Given the description of an element on the screen output the (x, y) to click on. 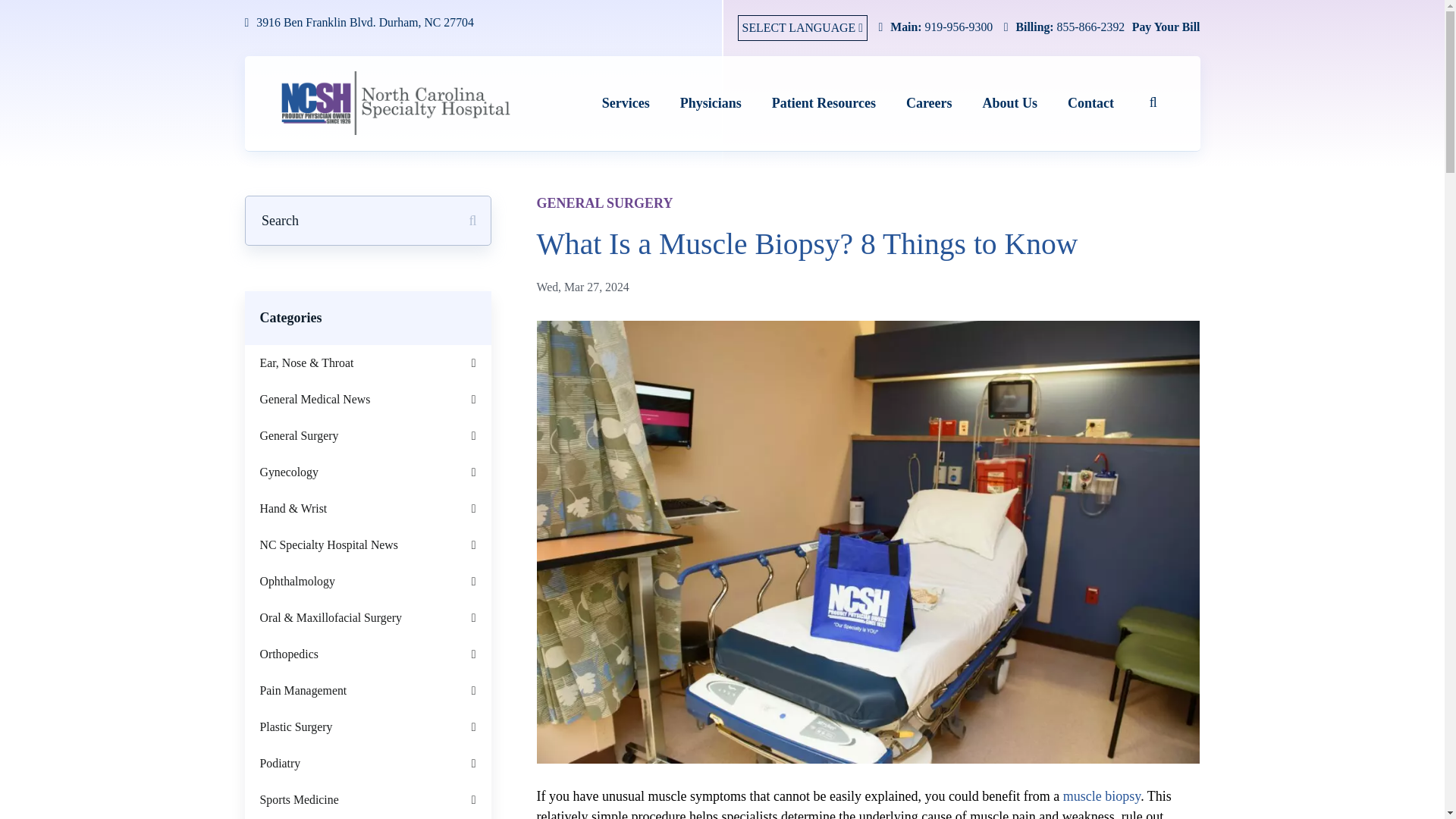
Pay Your Bill (1165, 26)
Main: 919-956-9300 (931, 26)
SELECT LANGUAGE (802, 27)
Billing: 855-866-2392 (1060, 26)
Search for: (357, 220)
3916 Ben Franklin Blvd. Durham, NC 27704 (483, 23)
